Given the description of an element on the screen output the (x, y) to click on. 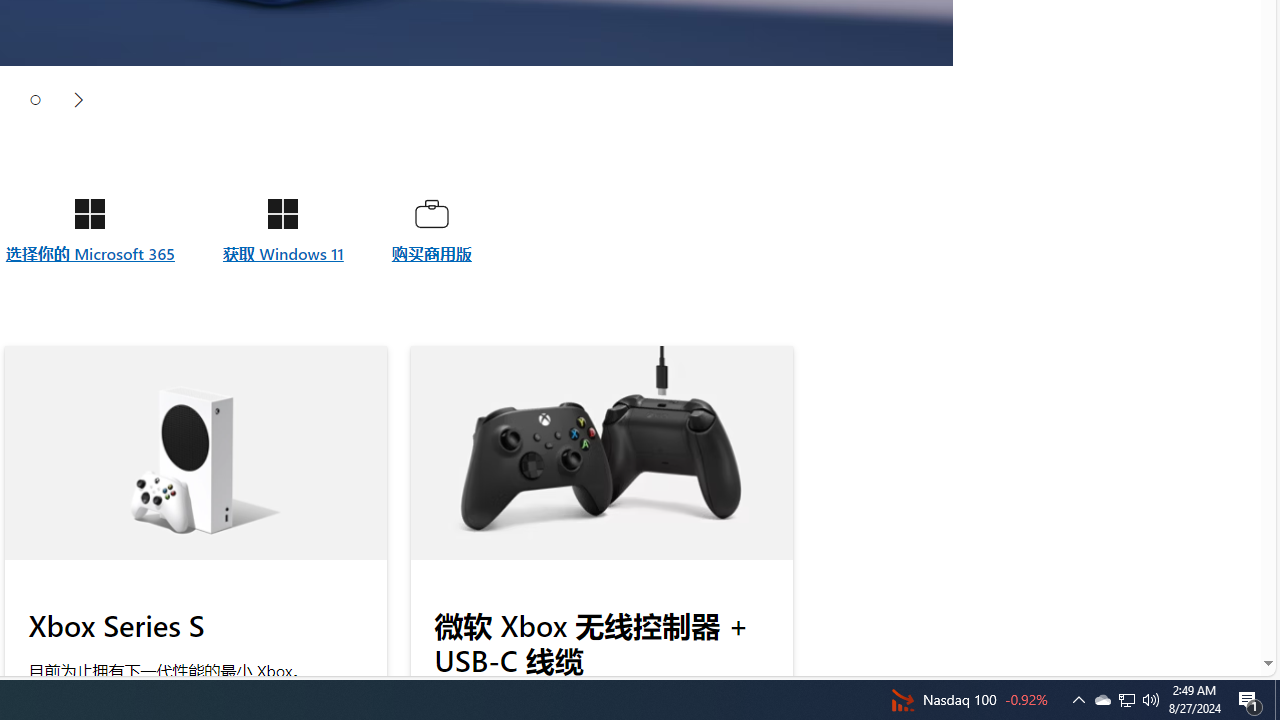
A pair of Xbox Wireless Controllers with USB-C Cable. (601, 453)
